Given the description of an element on the screen output the (x, y) to click on. 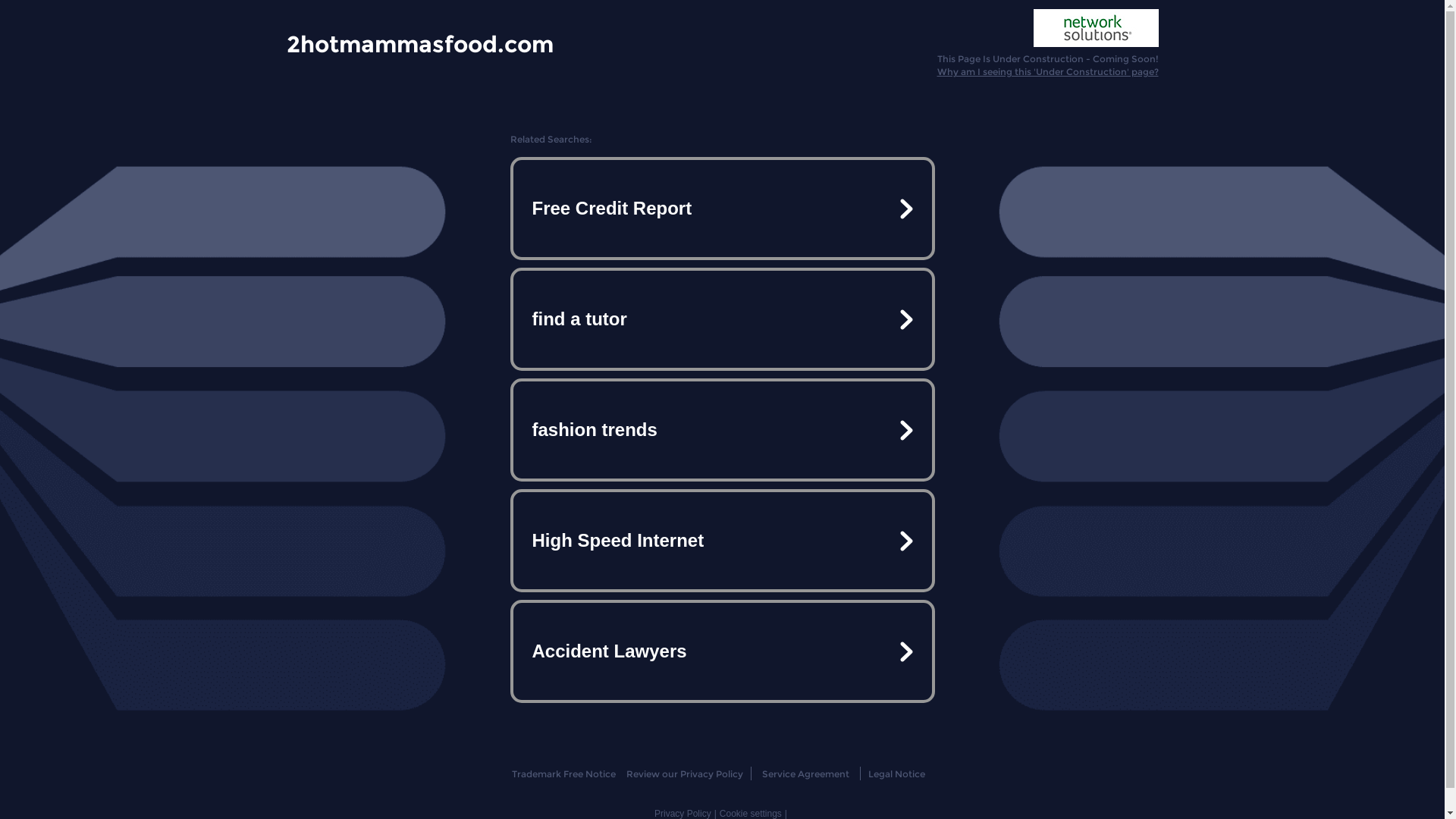
fashion trends Element type: text (721, 429)
Accident Lawyers Element type: text (721, 650)
Why am I seeing this 'Under Construction' page? Element type: text (1047, 71)
Service Agreement Element type: text (805, 773)
Review our Privacy Policy Element type: text (684, 773)
find a tutor Element type: text (721, 318)
Free Credit Report Element type: text (721, 208)
2hotmammasfood.com Element type: text (419, 43)
Legal Notice Element type: text (896, 773)
High Speed Internet Element type: text (721, 540)
Trademark Free Notice Element type: text (563, 773)
